Given the description of an element on the screen output the (x, y) to click on. 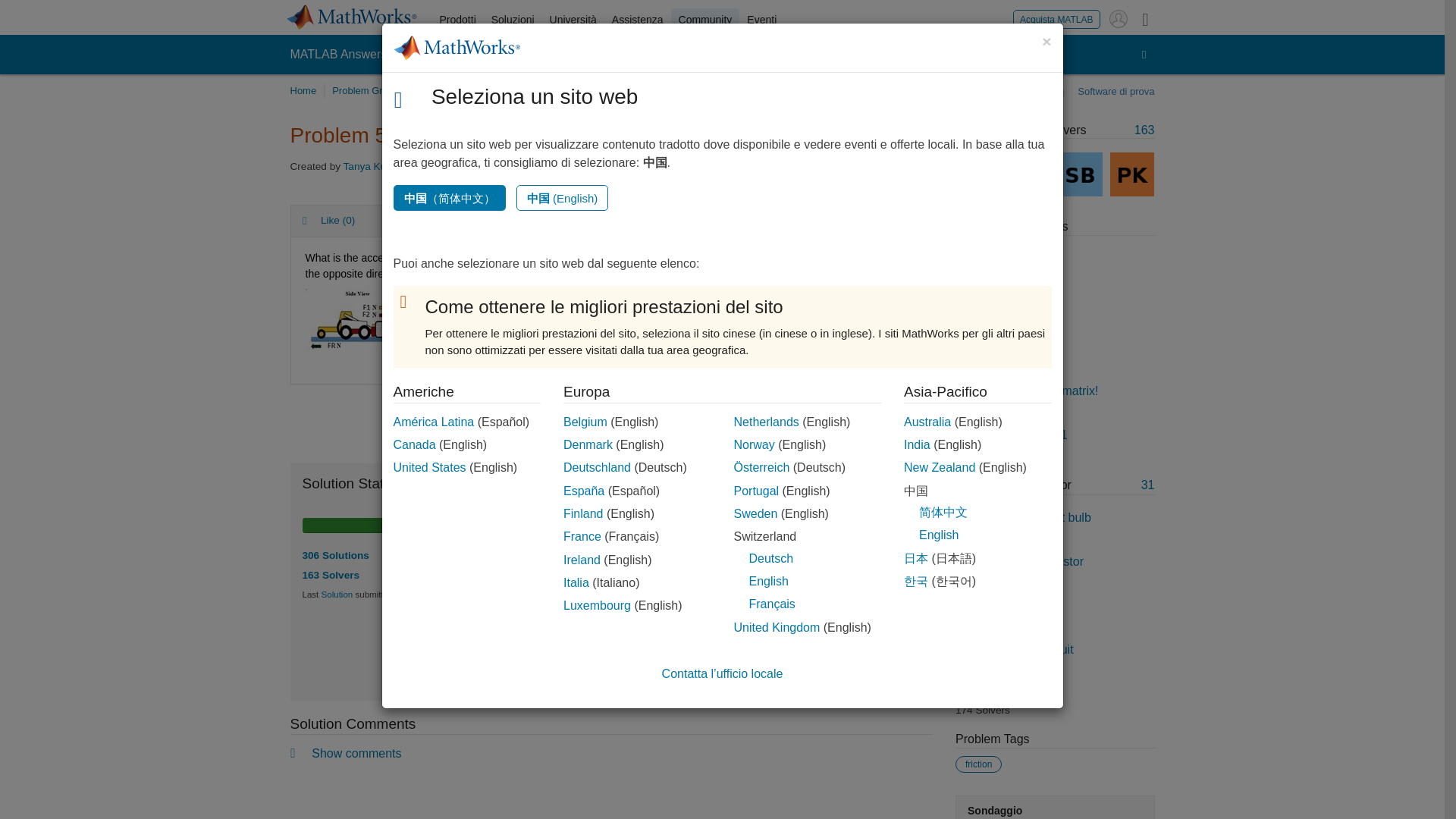
Soluzioni (512, 19)
Click to view rating details. (472, 220)
Community (705, 19)
Acquista MATLAB (1056, 18)
Eventi (761, 19)
Accedere al proprio MathWorks Account (1117, 18)
Score: 780, Badges: 9 (378, 165)
Assistenza (637, 19)
Click to view rating details. (778, 599)
Prodotti (500, 220)
